Given the description of an element on the screen output the (x, y) to click on. 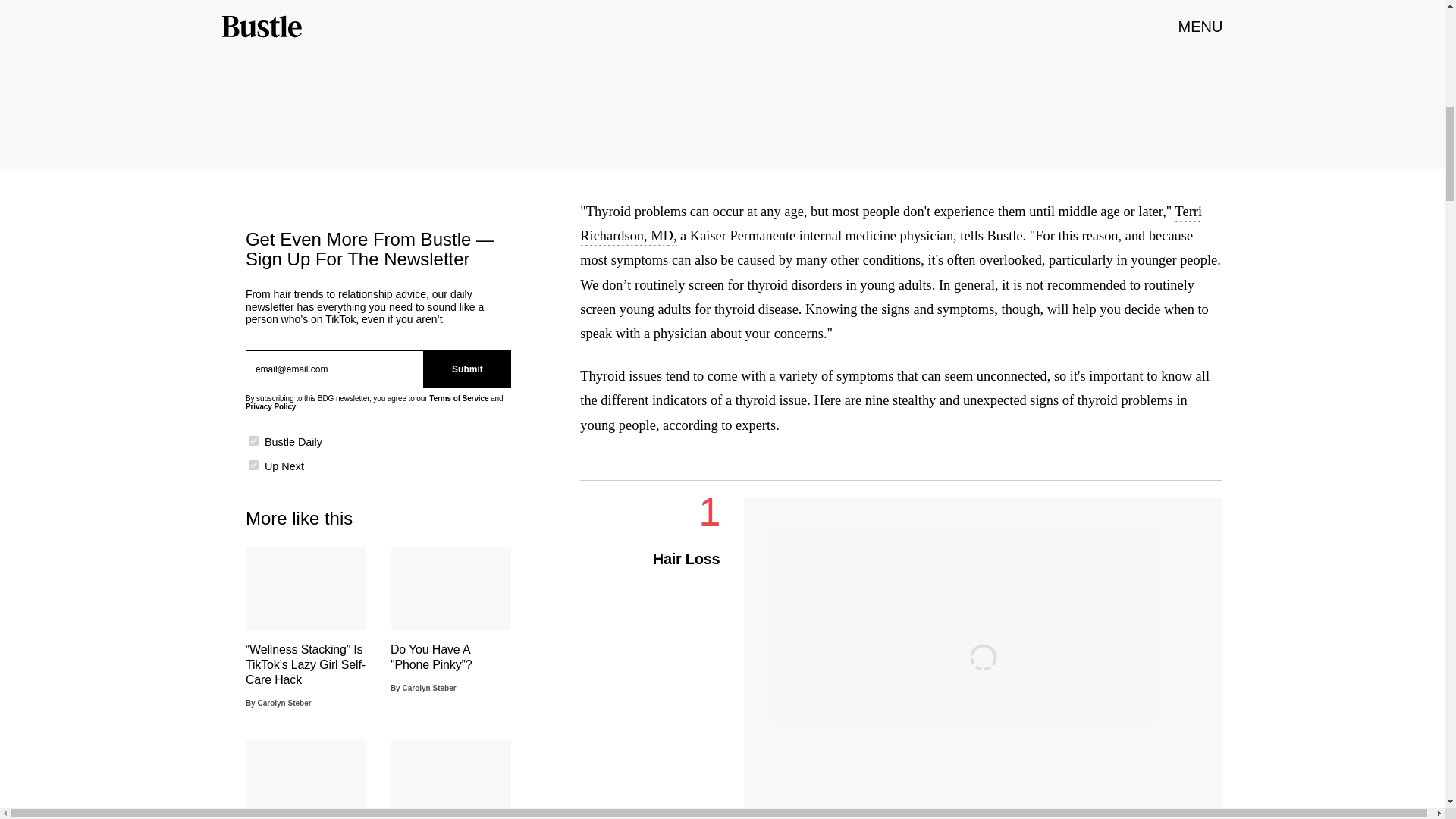
Privacy Policy (270, 406)
Terms of Service (458, 397)
Submit (467, 368)
Terri Richardson, MD, (890, 224)
